Given the description of an element on the screen output the (x, y) to click on. 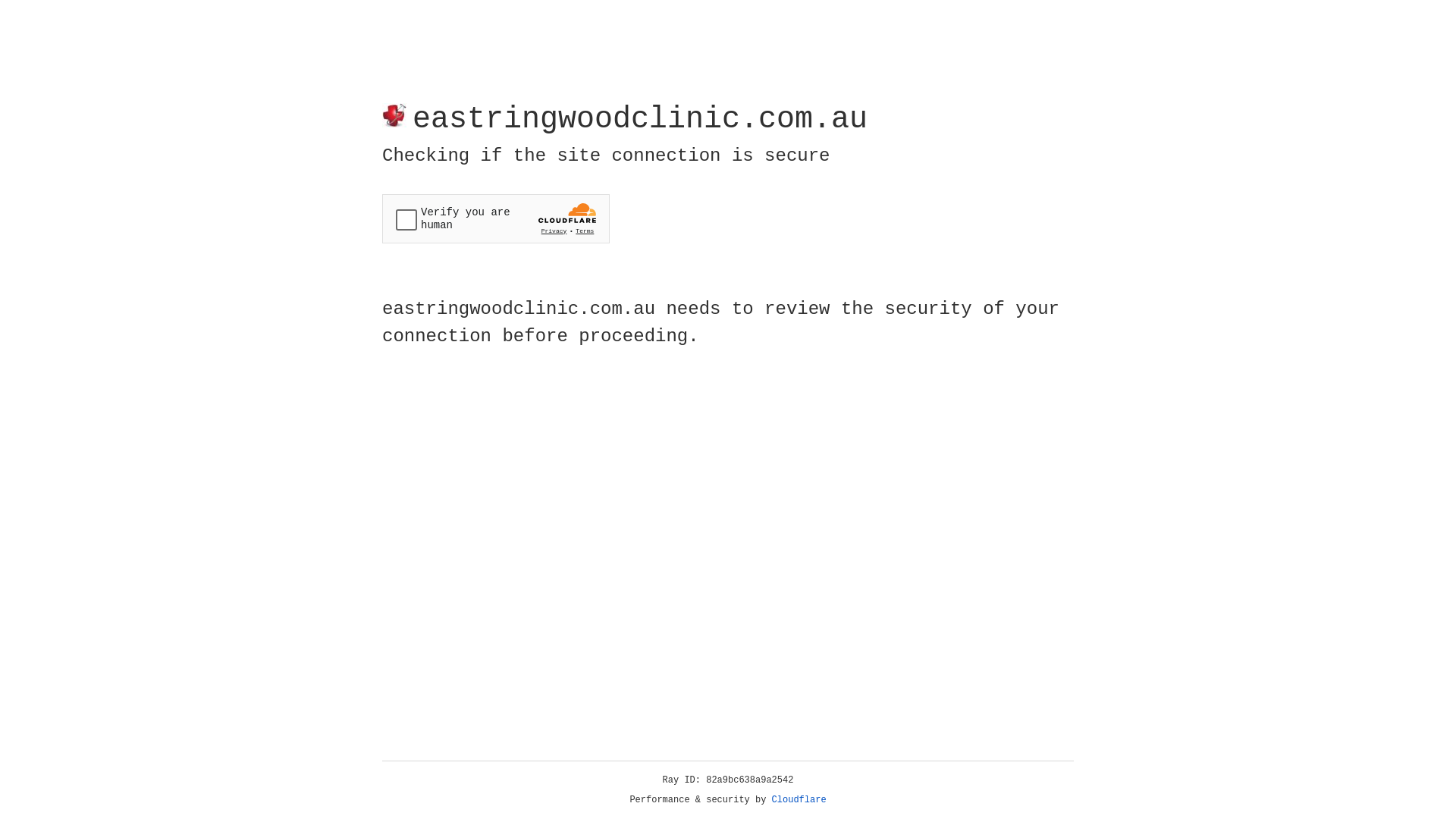
Cloudflare Element type: text (798, 799)
Widget containing a Cloudflare security challenge Element type: hover (495, 218)
